Given the description of an element on the screen output the (x, y) to click on. 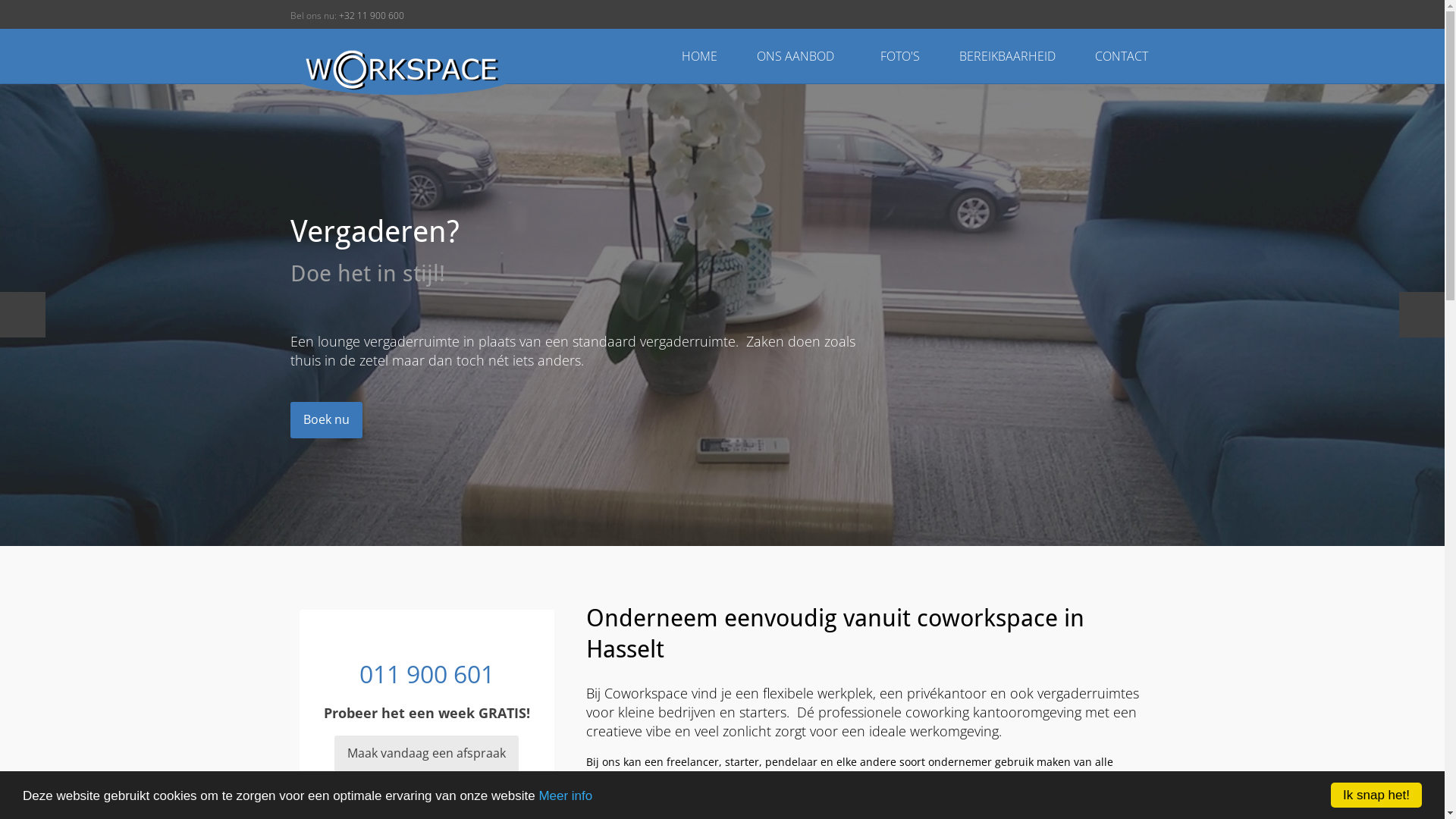
CONTACT Element type: text (1121, 55)
Meer info Element type: text (565, 795)
+32 11 900 600 Element type: text (370, 15)
Boek nu Element type: text (325, 419)
ONS AANBOD Element type: text (800, 55)
HOME Element type: text (699, 55)
BEREIKBAARHEID Element type: text (1007, 55)
011 900 601 Element type: text (426, 673)
FOTO'S Element type: text (900, 55)
Maak vandaag een afspraak Element type: text (426, 753)
Ik snap het! Element type: text (1375, 794)
